Given the description of an element on the screen output the (x, y) to click on. 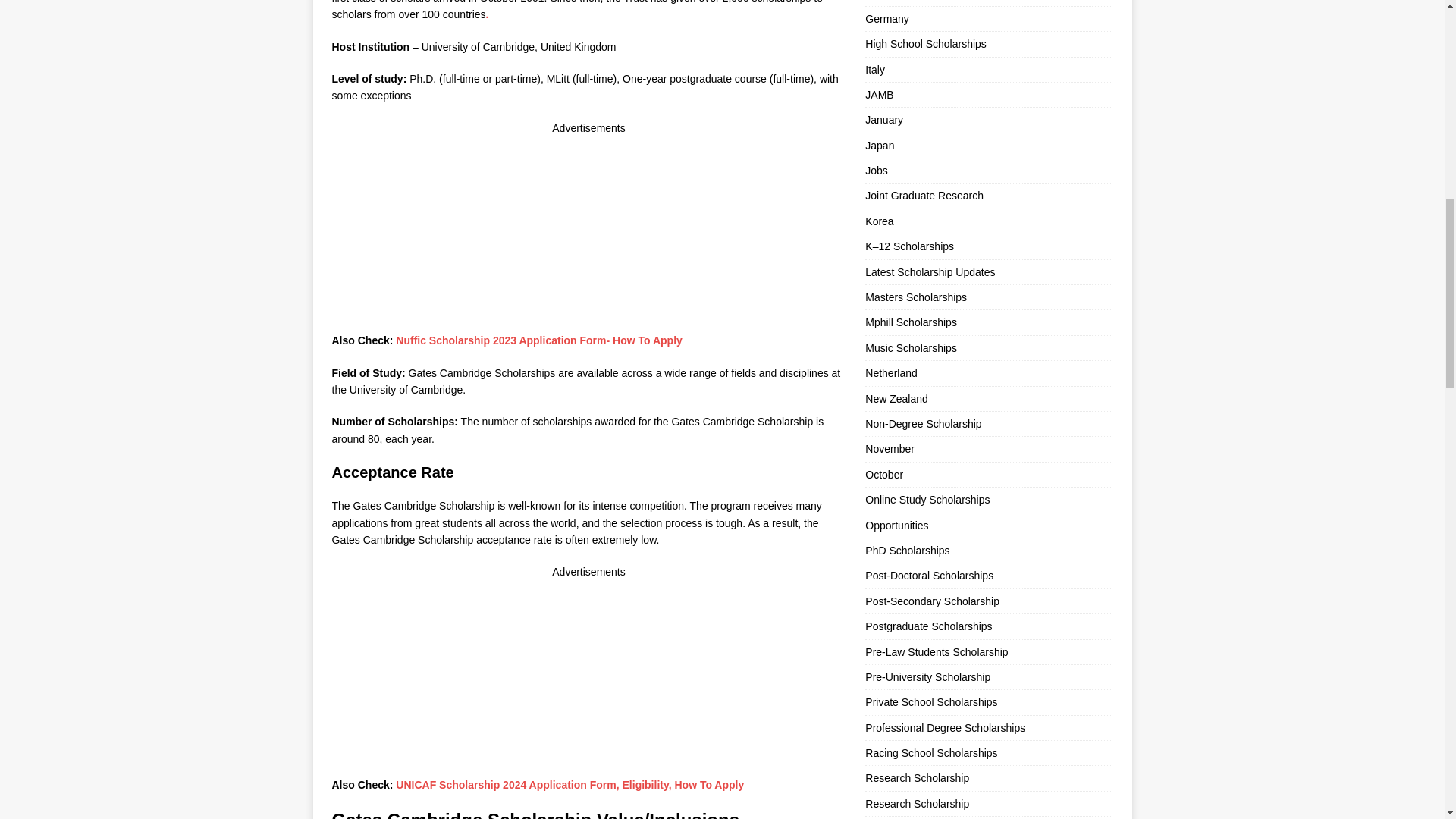
ScholarshipBoard (511, 389)
Nuffic Scholarship 2023 Application Form- How To Apply (539, 340)
